Given the description of an element on the screen output the (x, y) to click on. 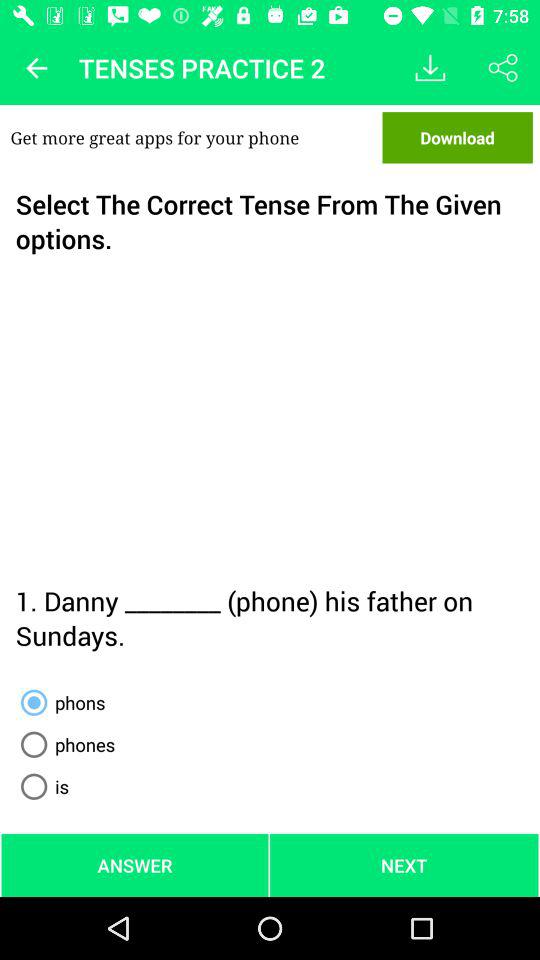
scroll to is (41, 786)
